Given the description of an element on the screen output the (x, y) to click on. 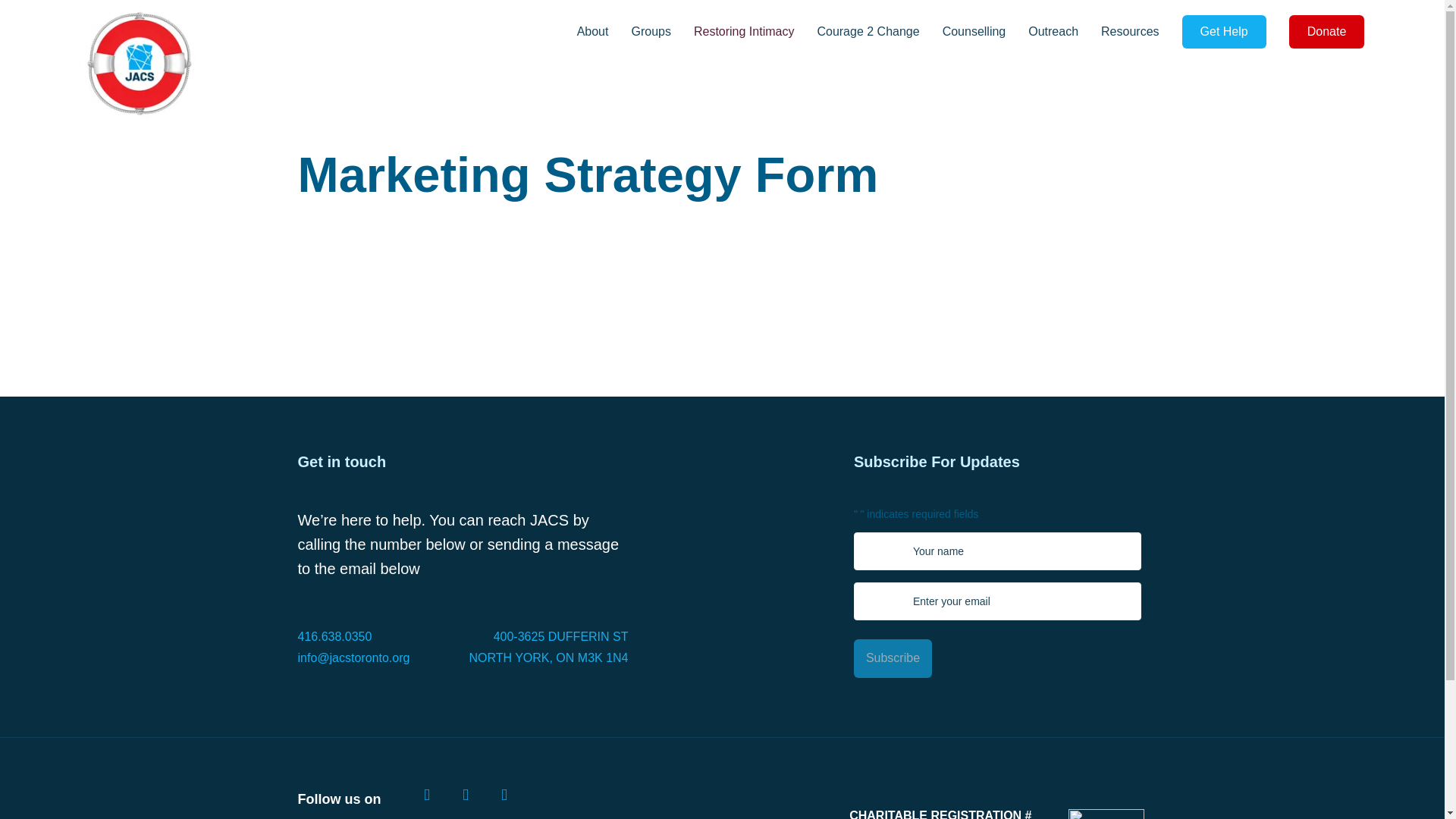
Restoring Intimacy (755, 31)
Outreach (1063, 31)
Subscribe (892, 658)
Get Help (1224, 31)
Groups (661, 31)
Courage 2 Change (879, 31)
Subscribe (892, 658)
About (603, 31)
Resources (1140, 31)
